Given the description of an element on the screen output the (x, y) to click on. 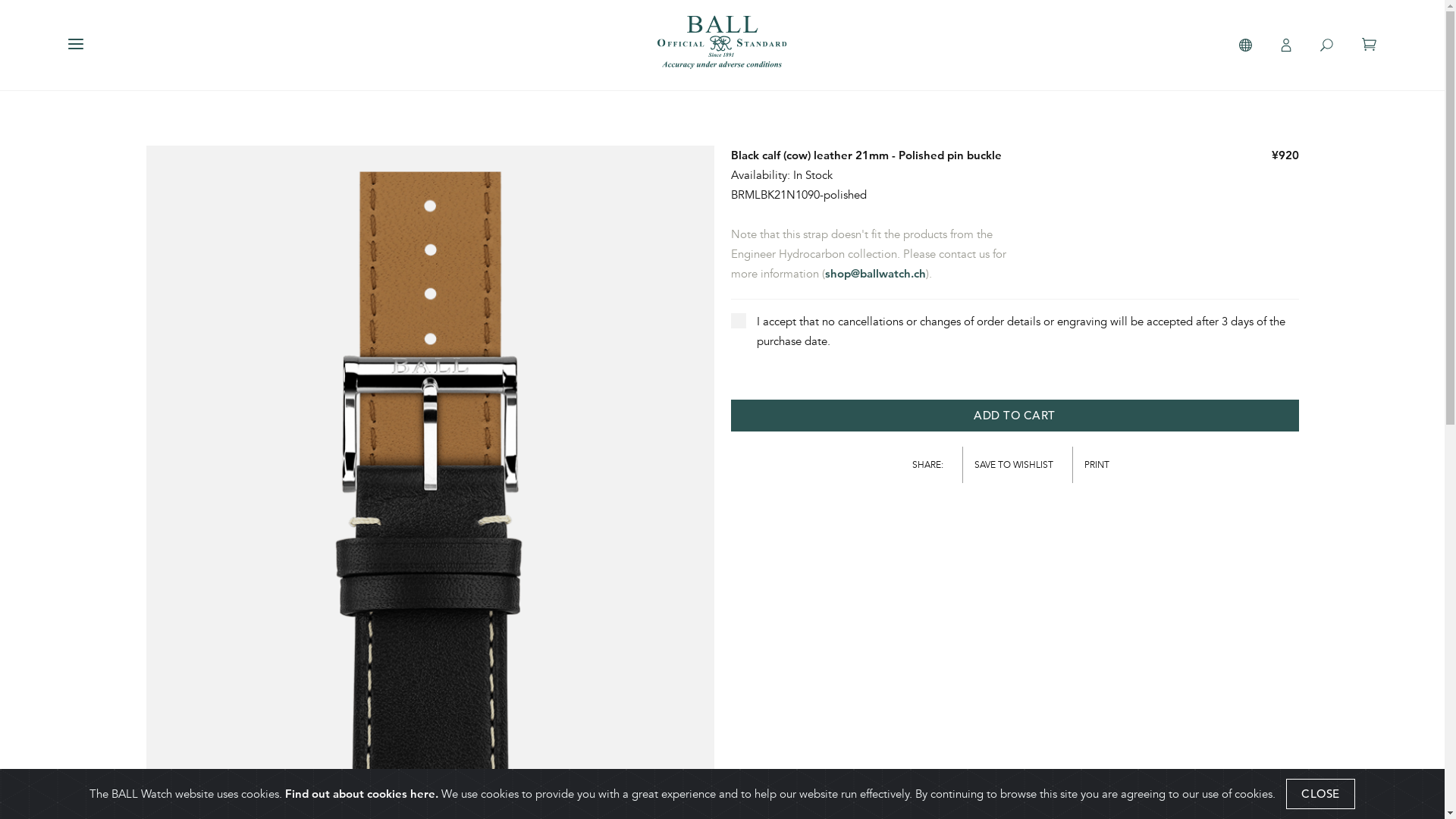
ENGLISH Element type: text (115, 69)
Find out about cookies here. Element type: text (361, 793)
ADD TO CART Element type: text (1015, 415)
PRINT Element type: text (1100, 464)
SAVE TO WISHLIST Element type: text (1017, 464)
shop@ballwatch.ch Element type: text (875, 273)
CLOSE Element type: text (1320, 793)
